Given the description of an element on the screen output the (x, y) to click on. 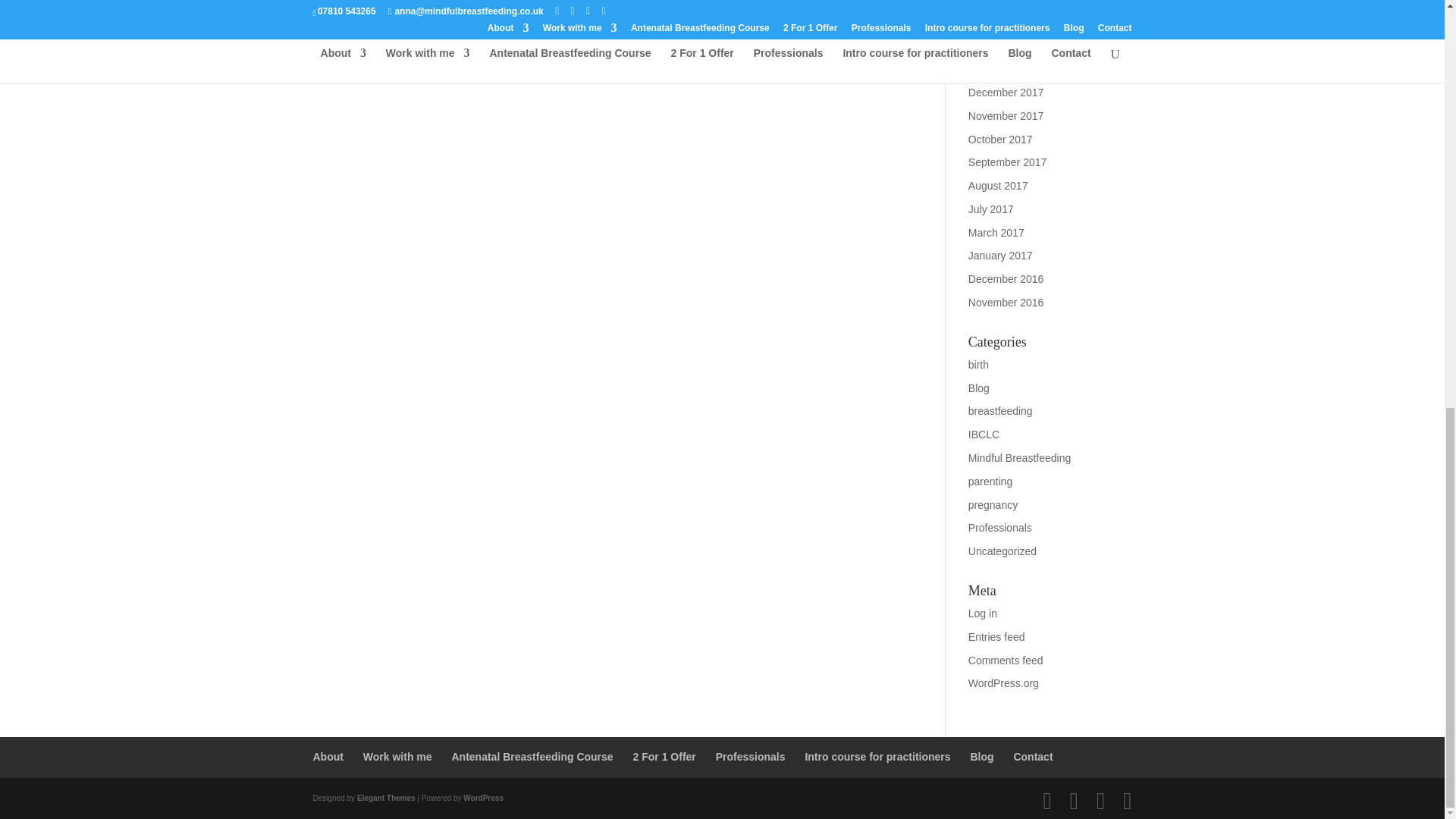
Premium WordPress Themes (385, 797)
